Given the description of an element on the screen output the (x, y) to click on. 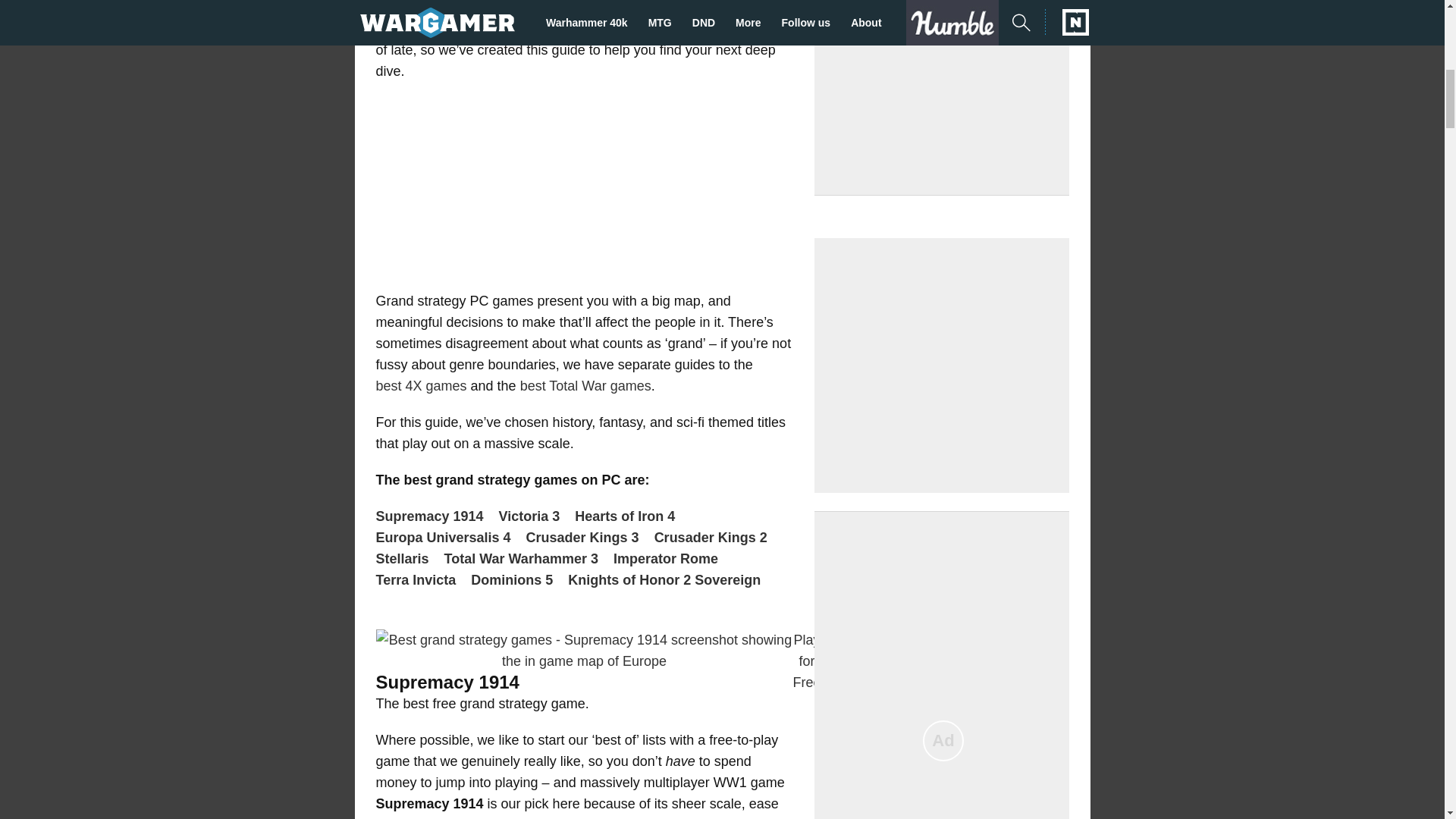
best 4X games (421, 385)
best-grand-strategy-games-pc-supremacy-1914-europe-map (584, 650)
